Given the description of an element on the screen output the (x, y) to click on. 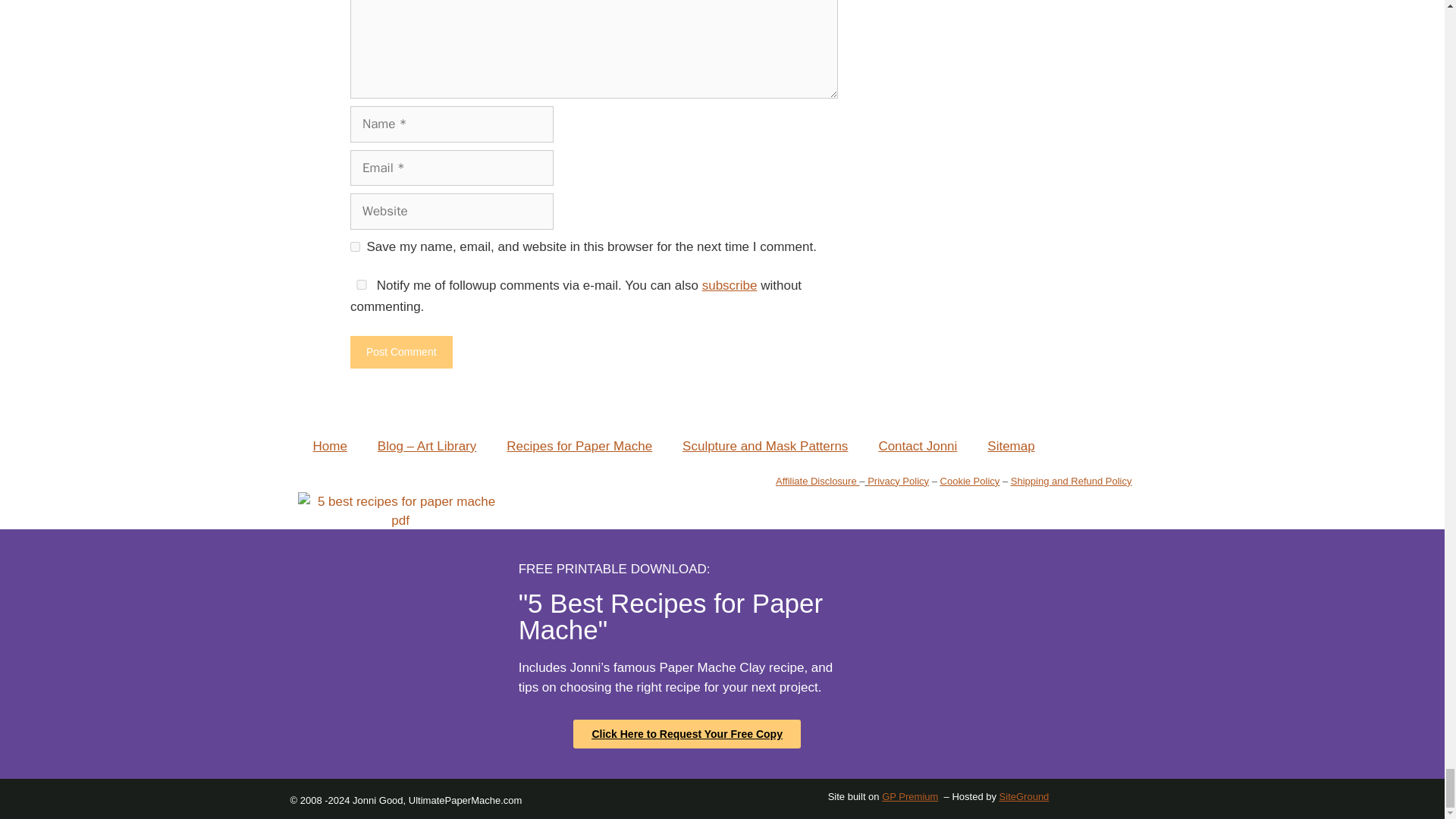
5 best recipes for paper mache pdf (399, 511)
yes (354, 246)
yes (361, 284)
Post Comment (401, 351)
